Given the description of an element on the screen output the (x, y) to click on. 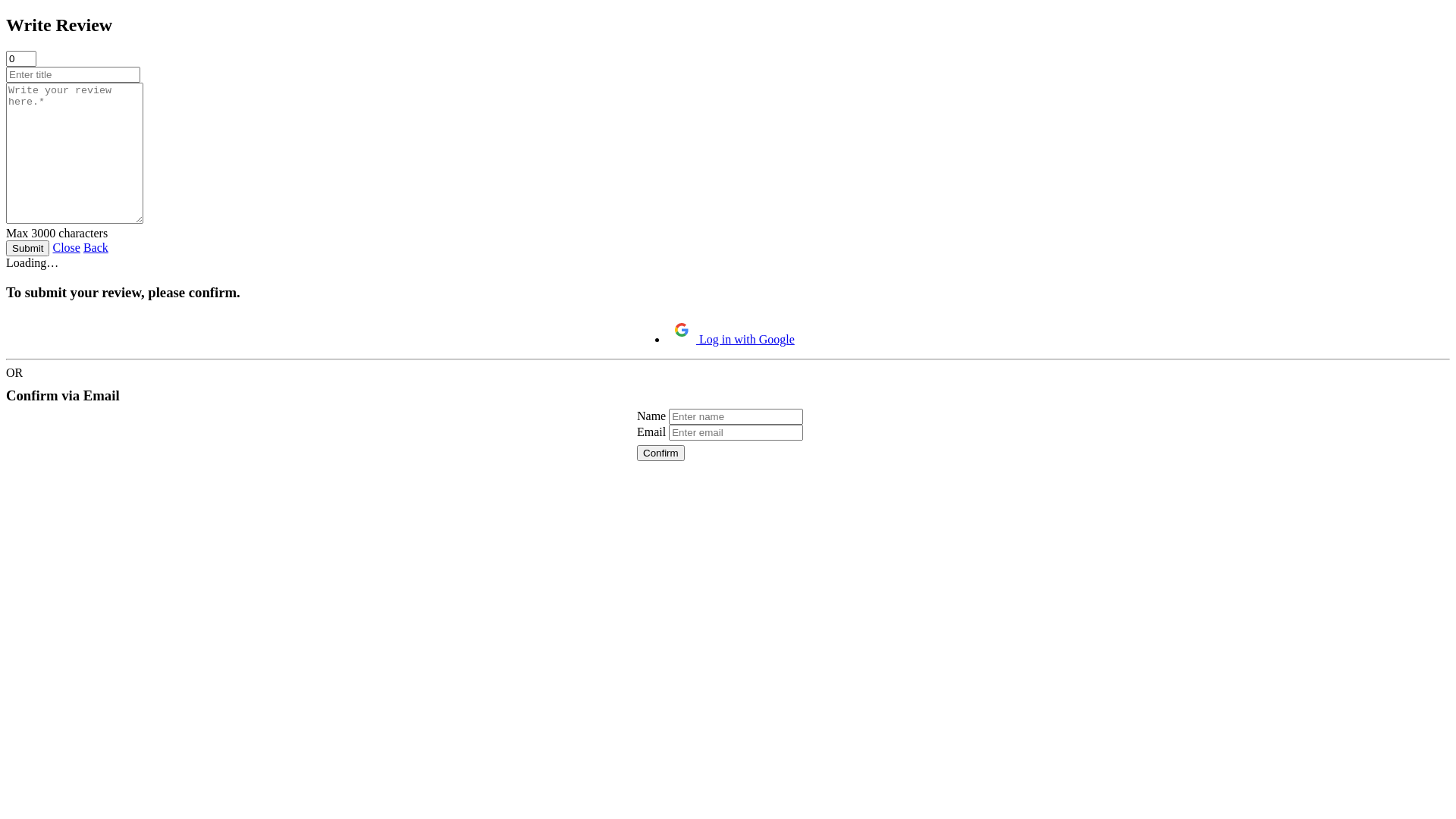
Log in with Google Element type: text (730, 338)
Submit Element type: text (27, 248)
Back Element type: text (95, 247)
Confirm Element type: text (660, 453)
Close Element type: text (65, 247)
